Given the description of an element on the screen output the (x, y) to click on. 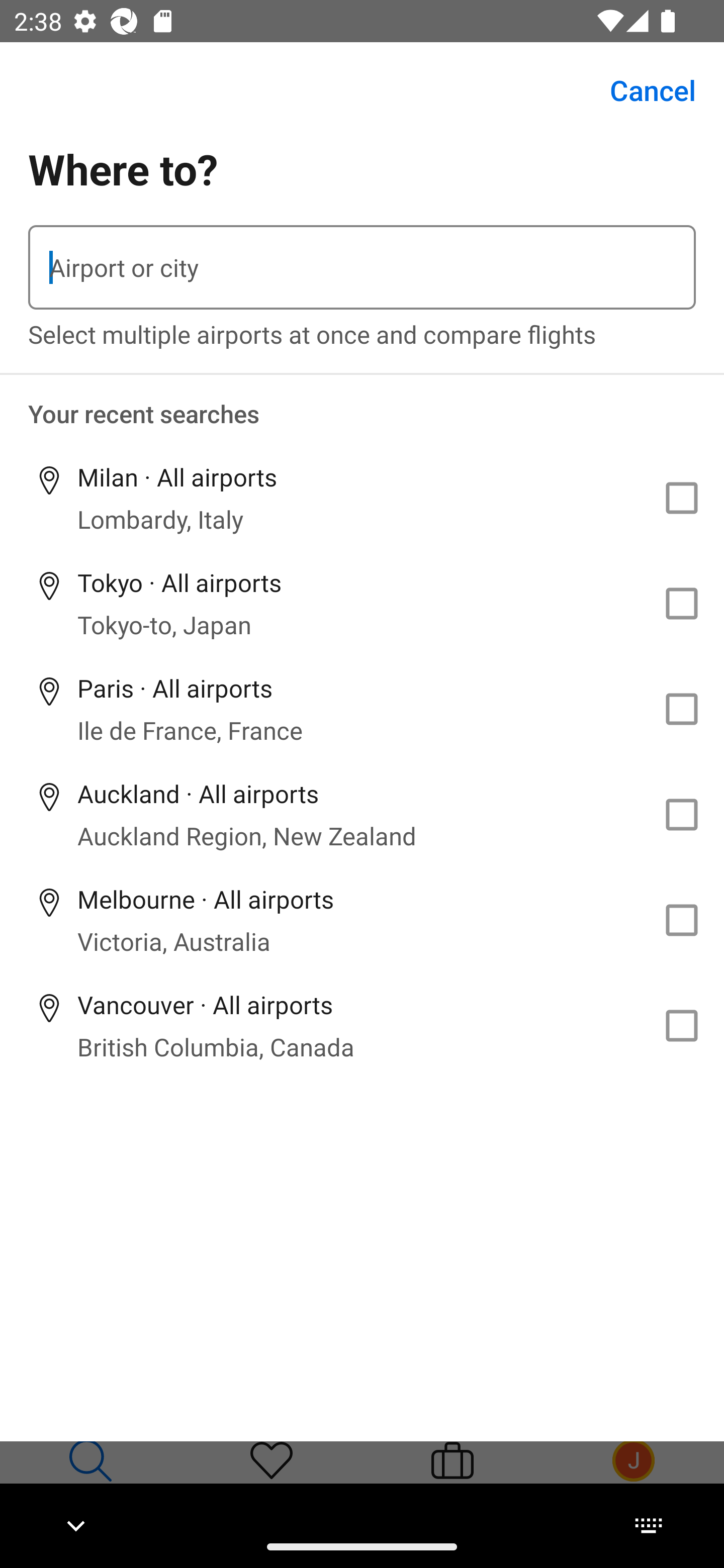
Cancel (641, 90)
Airport or city (361, 266)
Milan · All airports Lombardy, Italy (362, 497)
Tokyo · All airports Tokyo-to, Japan (362, 603)
Paris · All airports Ile de France, France (362, 709)
Melbourne · All airports Victoria, Australia (362, 920)
Vancouver · All airports British Columbia, Canada (362, 1025)
